Given the description of an element on the screen output the (x, y) to click on. 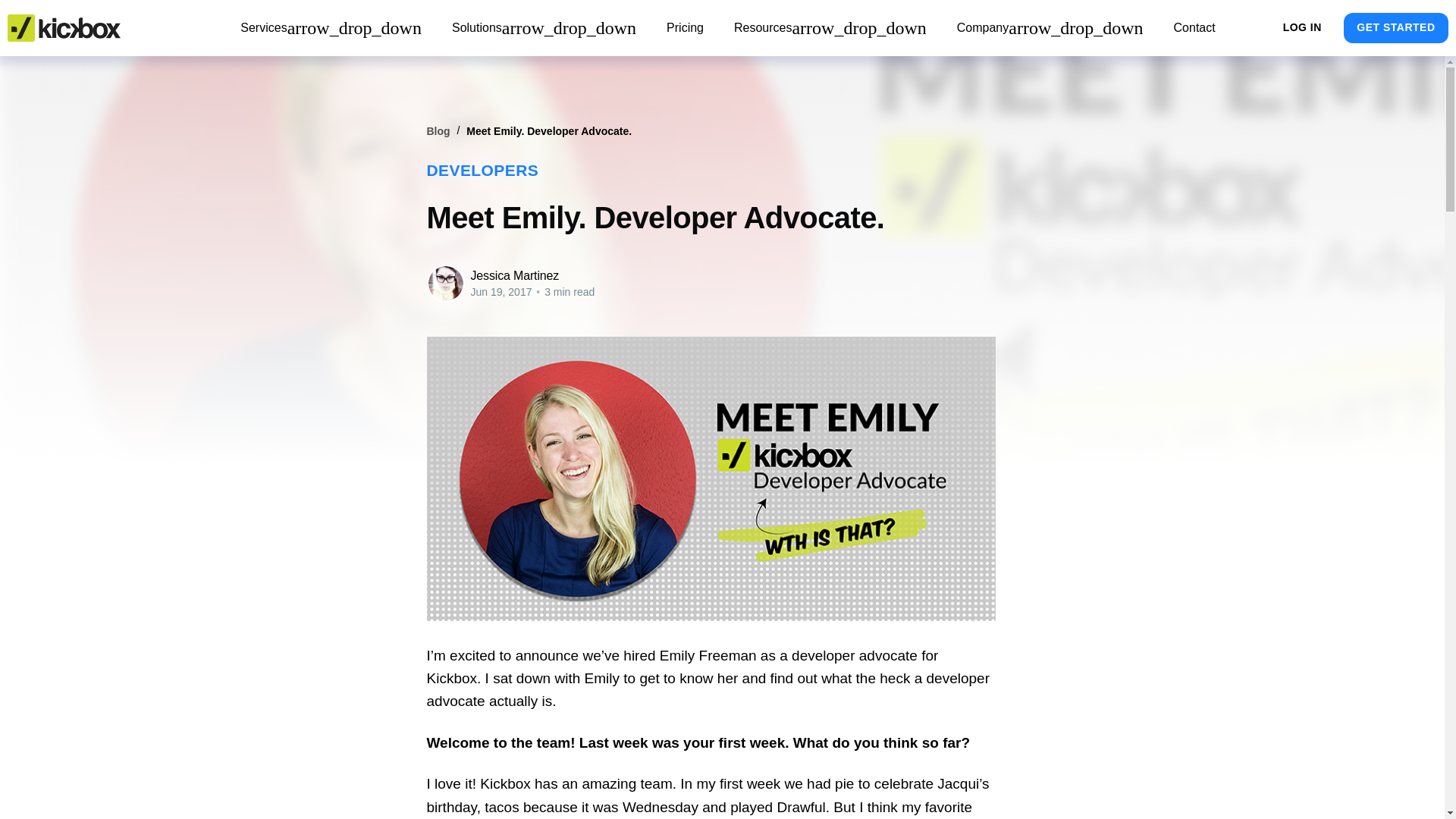
Pricing (684, 28)
Kickbox Products Menu (330, 28)
Kickbox Home (63, 27)
Kickbox Solutions Menu (543, 28)
